Given the description of an element on the screen output the (x, y) to click on. 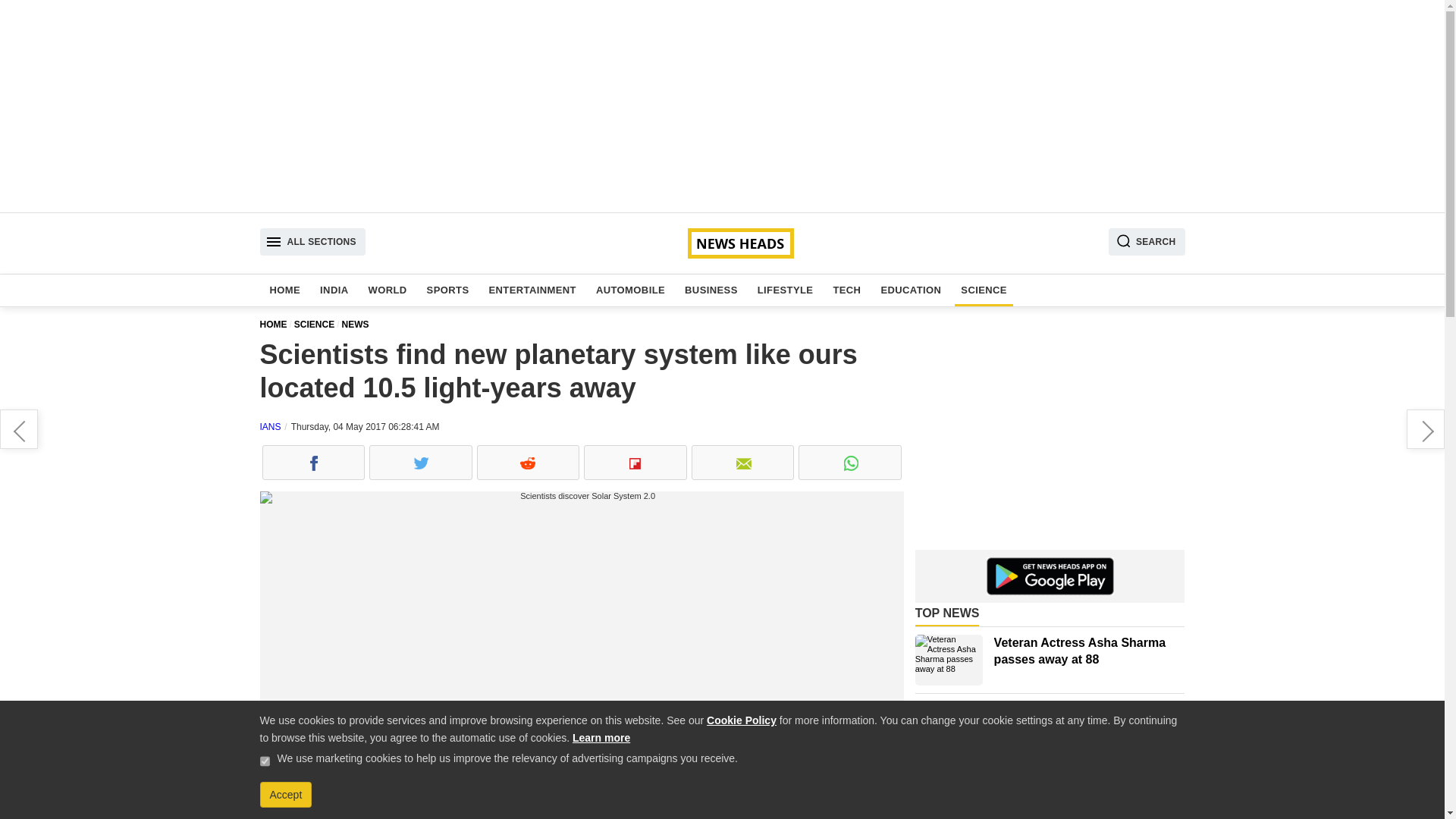
SPORTS (448, 290)
SCIENCE (318, 324)
HOME (285, 290)
Learn more (601, 737)
SEARCH (1146, 241)
LIFESTYLE (785, 290)
INDIA (333, 290)
HOME (276, 324)
AUTOMOBILE (630, 290)
SCIENCE (984, 290)
